Given the description of an element on the screen output the (x, y) to click on. 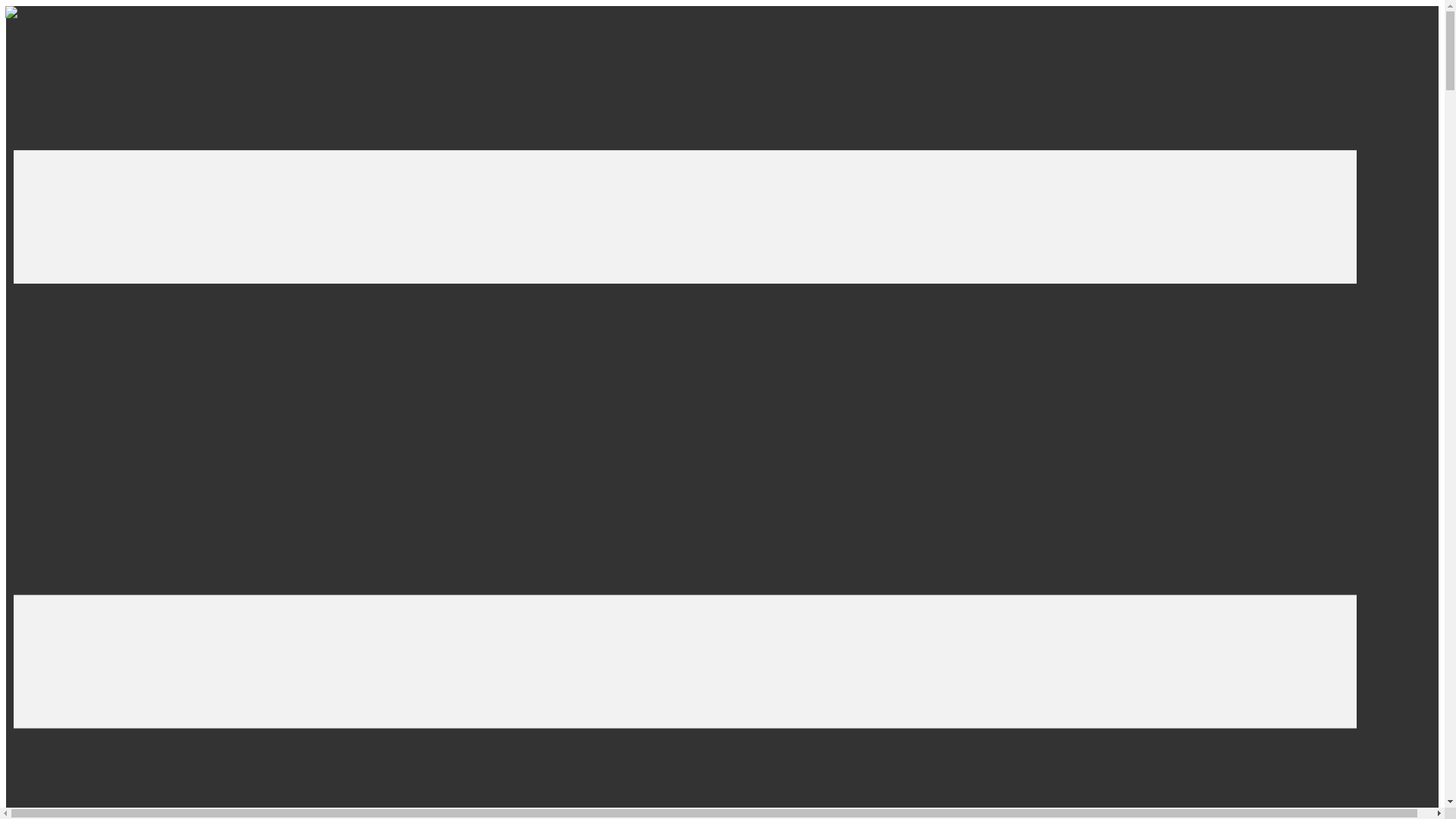
home Element type: hover (11, 13)
